Given the description of an element on the screen output the (x, y) to click on. 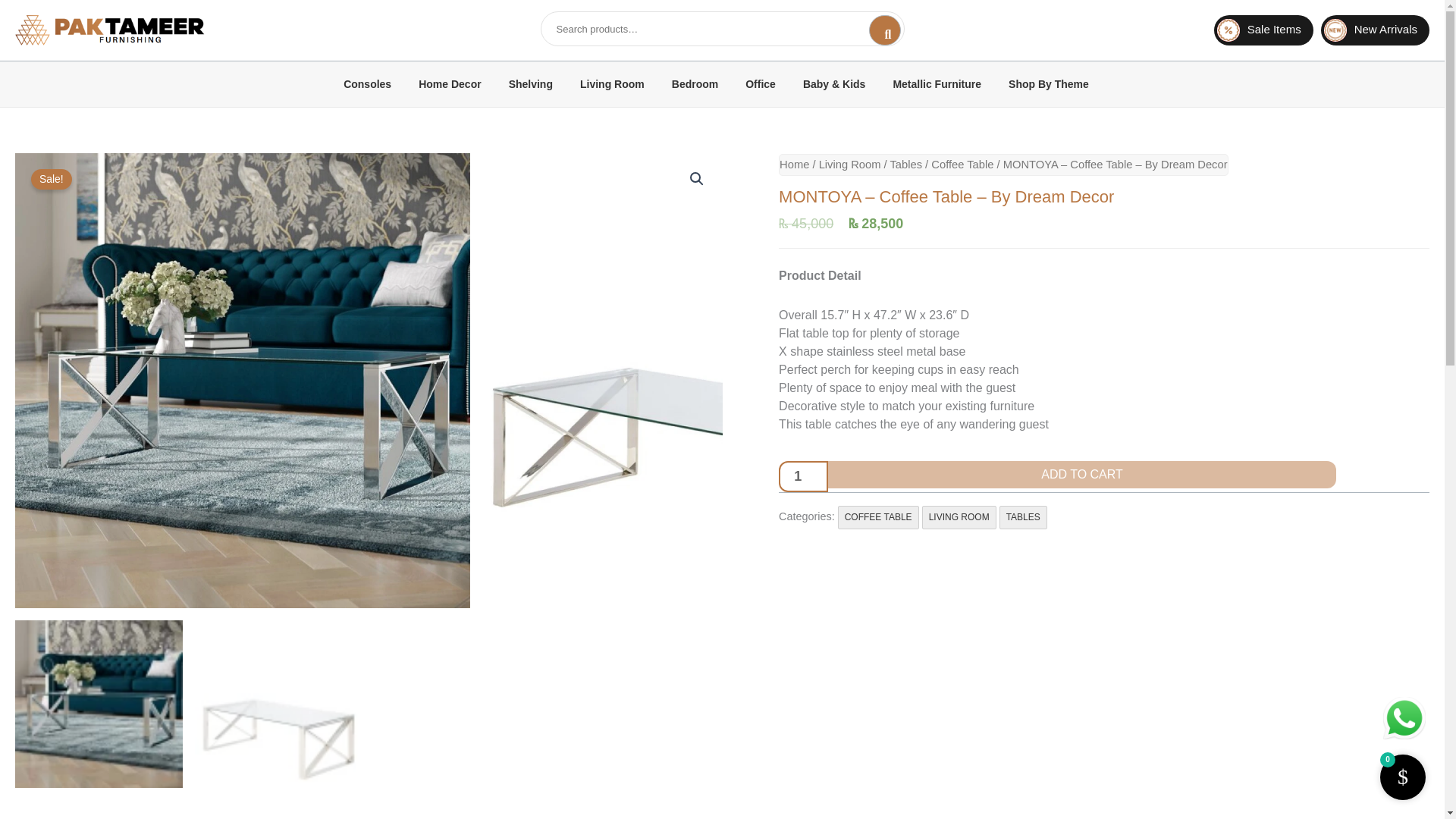
1 (803, 476)
Living Room (612, 83)
New Arrivals (1374, 30)
Consoles (367, 83)
Sale Items (1263, 30)
Shelving (530, 83)
Search (885, 30)
Home Decor (448, 83)
